Given the description of an element on the screen output the (x, y) to click on. 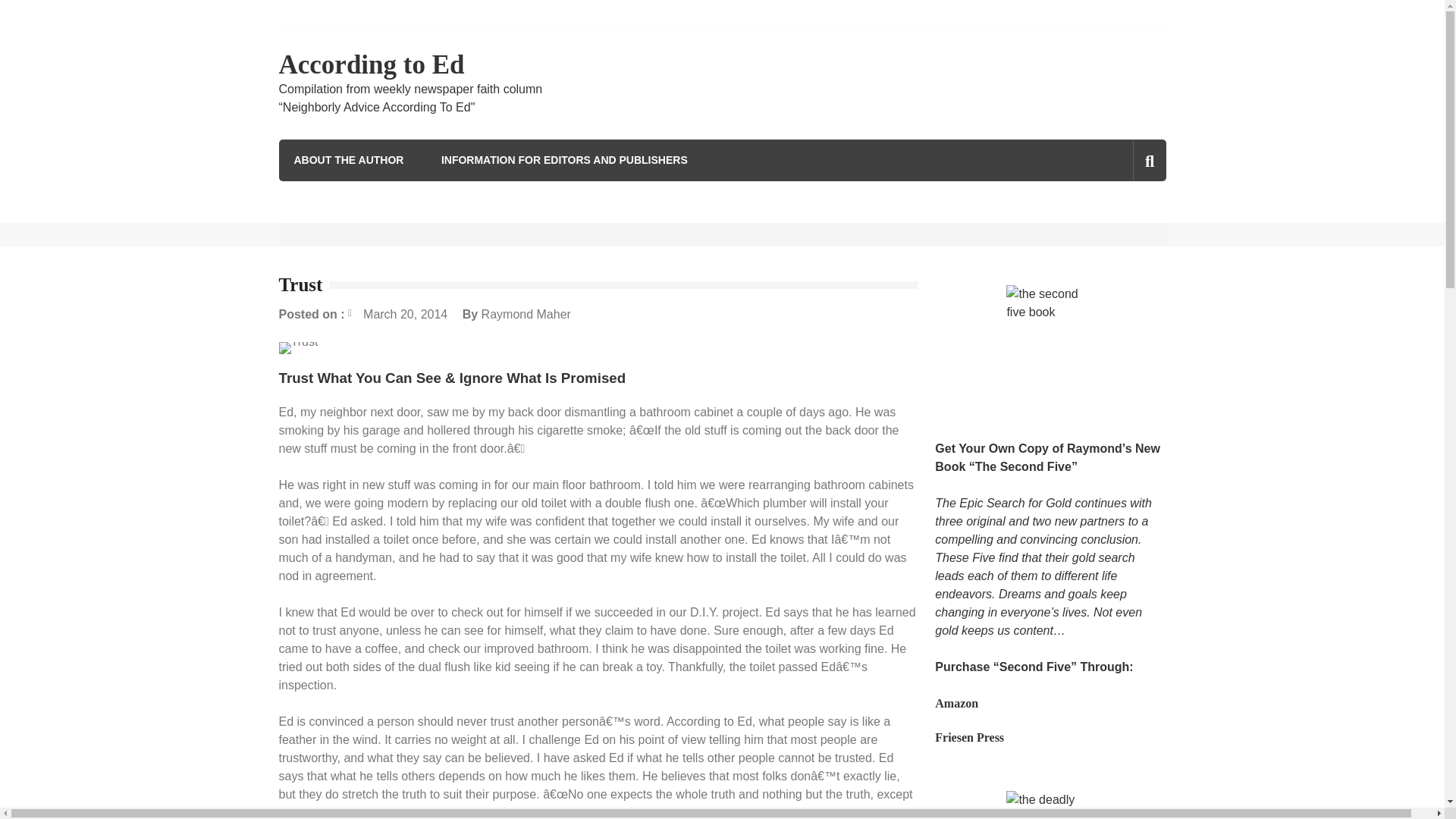
thedealyfiveebook (1050, 805)
Search (1120, 225)
Friesen Press Second Five (969, 737)
Posts by Raymond Maher (525, 314)
According to Ed (371, 64)
Amazon Second Five (956, 703)
ABOUT THE AUTHOR (349, 159)
INFORMATION FOR EDITORS AND PUBLISHERS (564, 159)
